Given the description of an element on the screen output the (x, y) to click on. 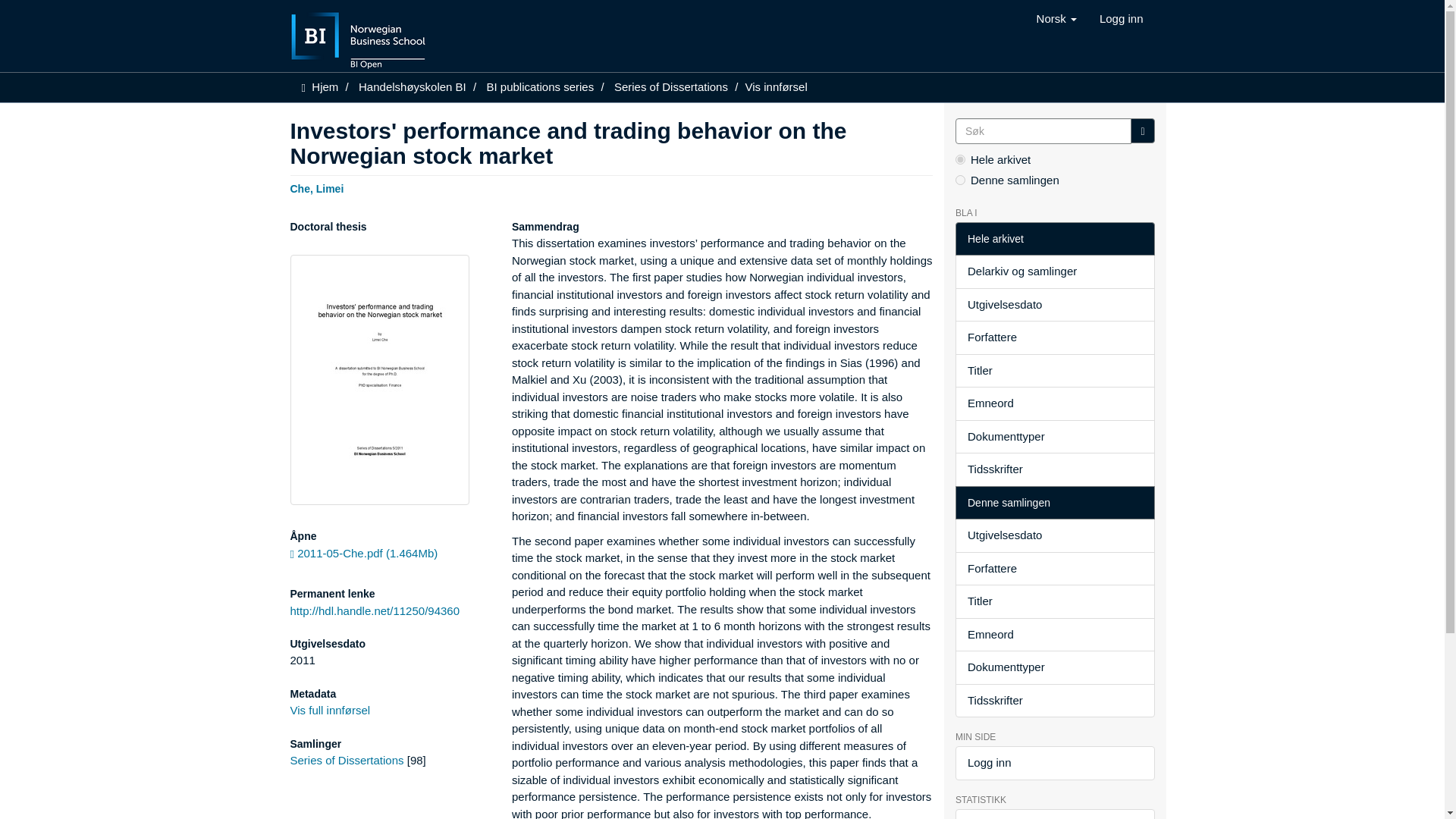
Hele arkivet (1054, 238)
Utgivelsesdato (1054, 305)
Delarkiv og samlinger (1054, 271)
Series of Dissertations (346, 759)
Forfattere (1054, 337)
Hjem (324, 86)
BI publications series (540, 86)
Norsk  (1056, 18)
Logg inn (1120, 18)
Series of Dissertations (671, 86)
